Given the description of an element on the screen output the (x, y) to click on. 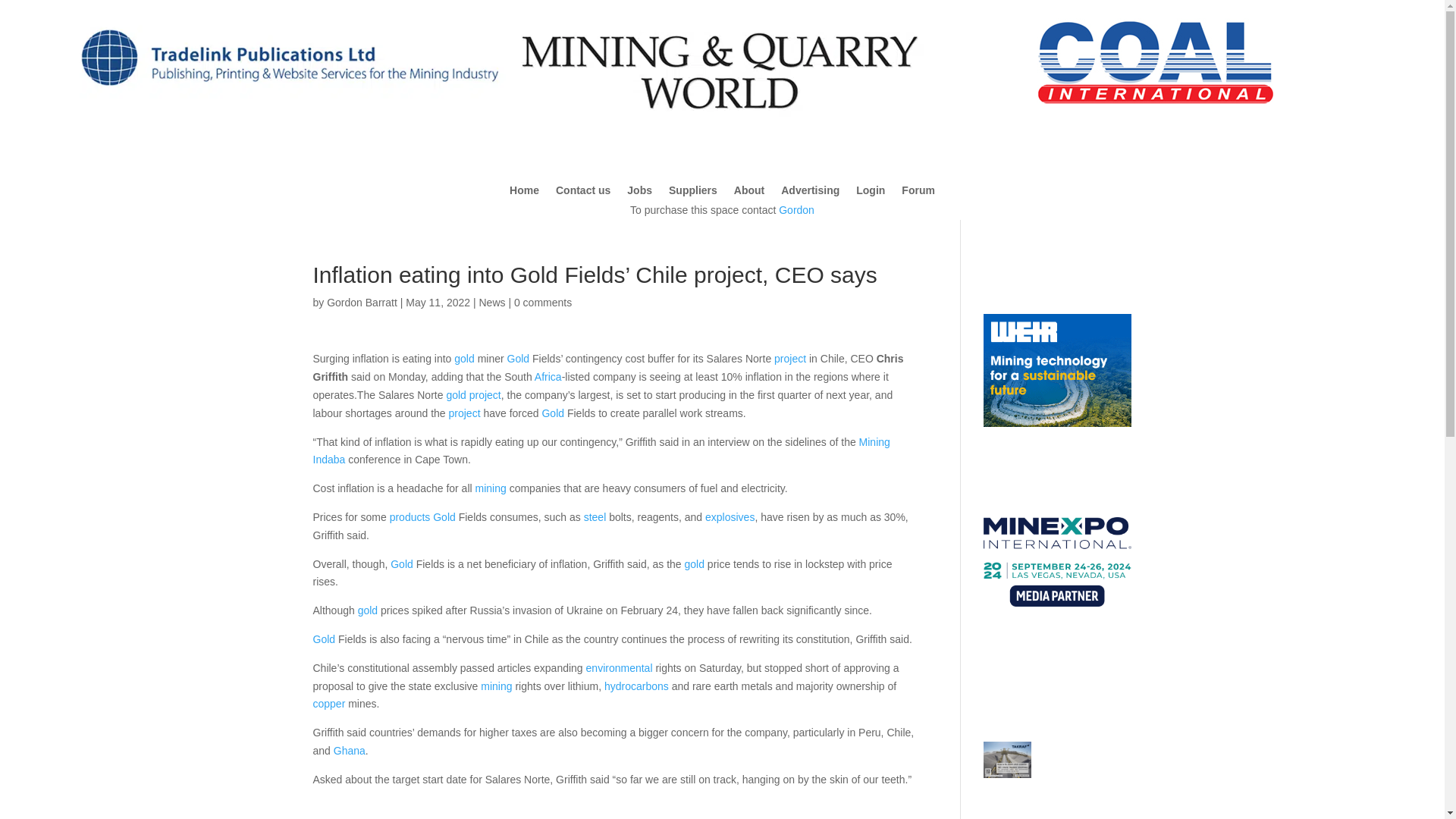
steel (595, 517)
Jobs (639, 193)
mining (491, 488)
project (484, 395)
Posts by Gordon Barratt (361, 302)
Contact us (583, 193)
Login (870, 193)
Coal internalional (1156, 61)
Suppliers (692, 193)
gold (464, 358)
Gordon Barratt (361, 302)
explosives (729, 517)
tradelinkpublications logo (288, 105)
About (748, 193)
Mining (874, 441)
